Given the description of an element on the screen output the (x, y) to click on. 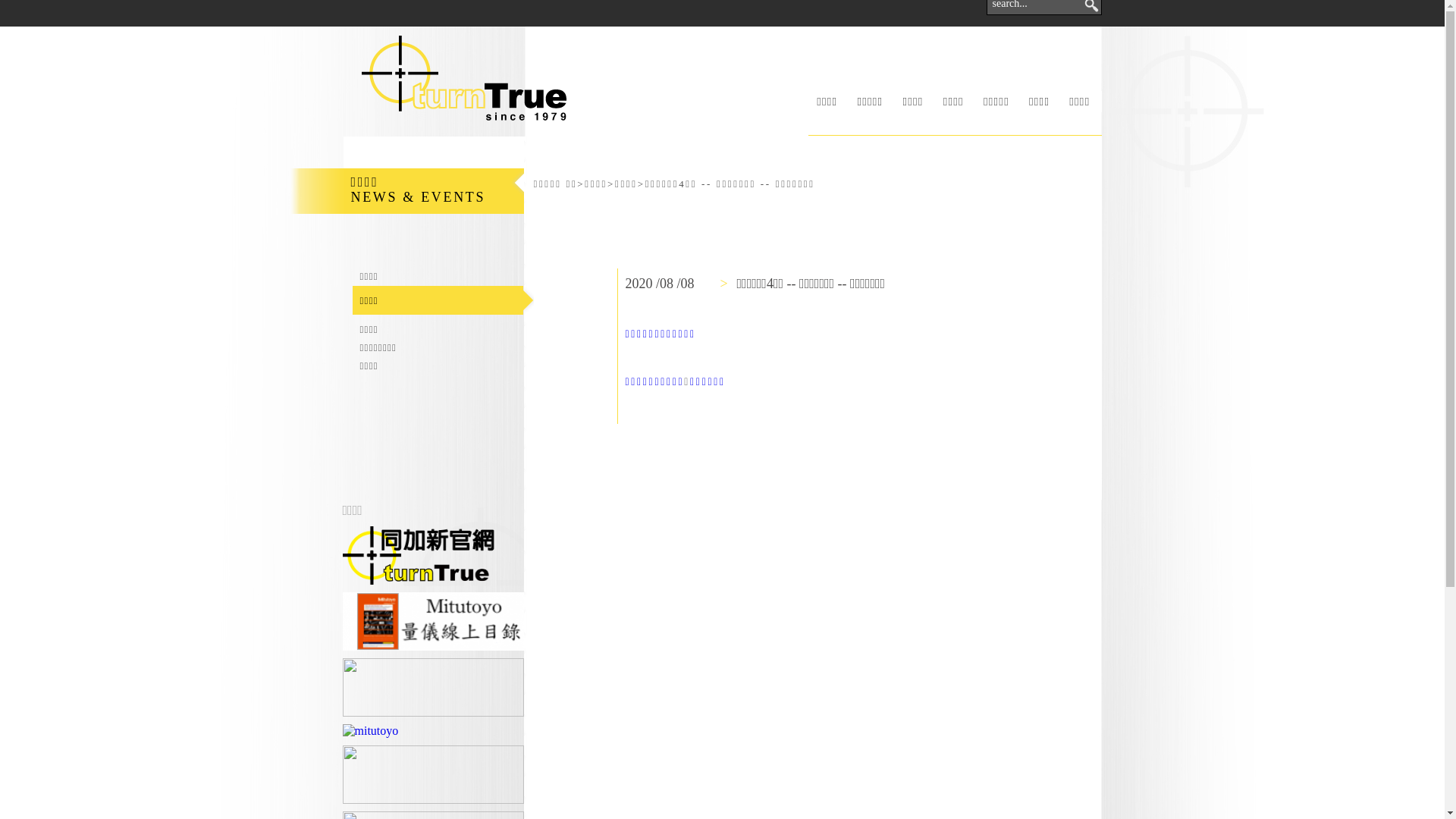
mitutoyo Element type: hover (370, 730)
